Given the description of an element on the screen output the (x, y) to click on. 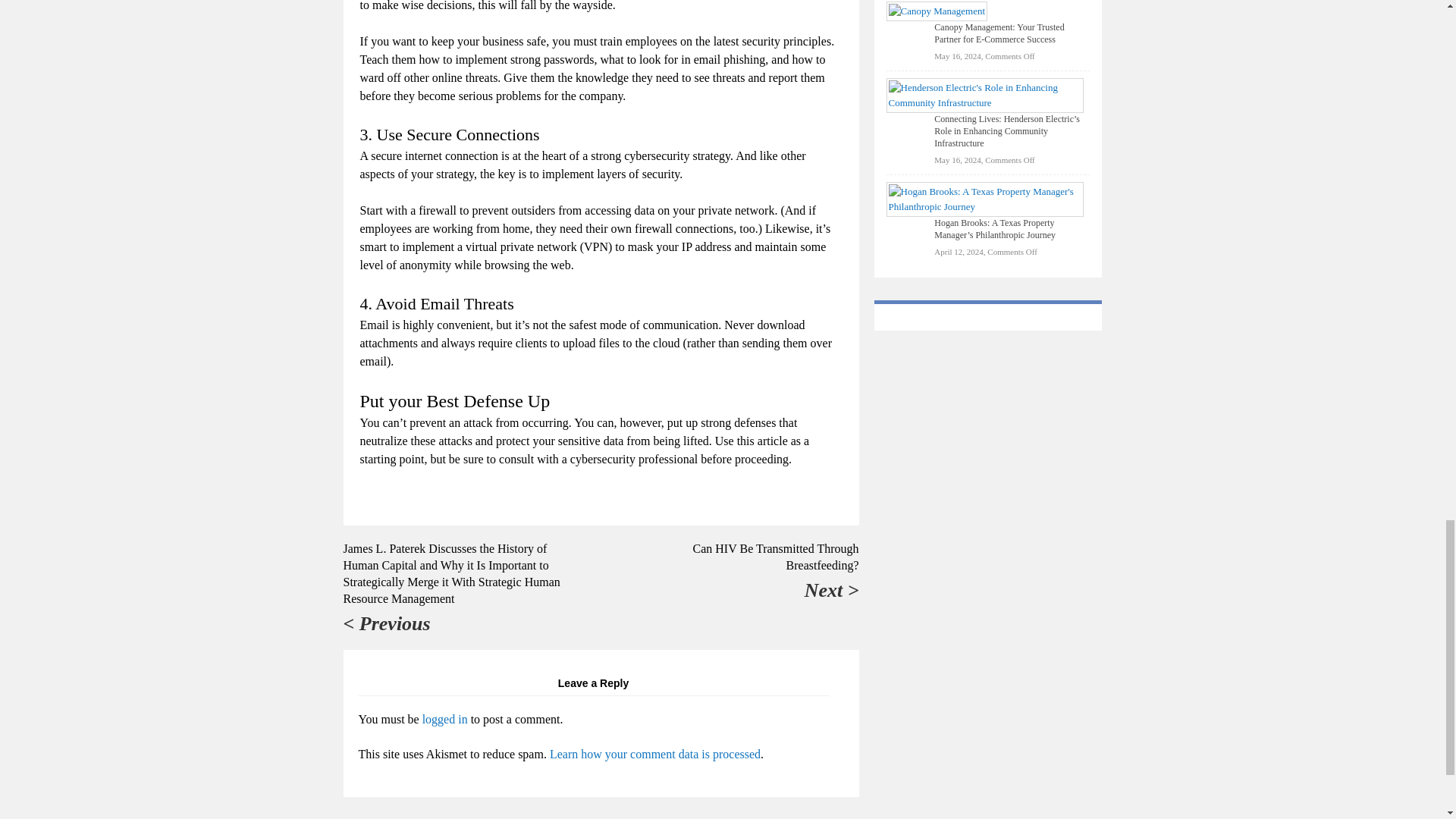
Learn how your comment data is processed (655, 753)
logged in (444, 718)
Can HIV Be Transmitted Through Breastfeeding? (776, 556)
